Given the description of an element on the screen output the (x, y) to click on. 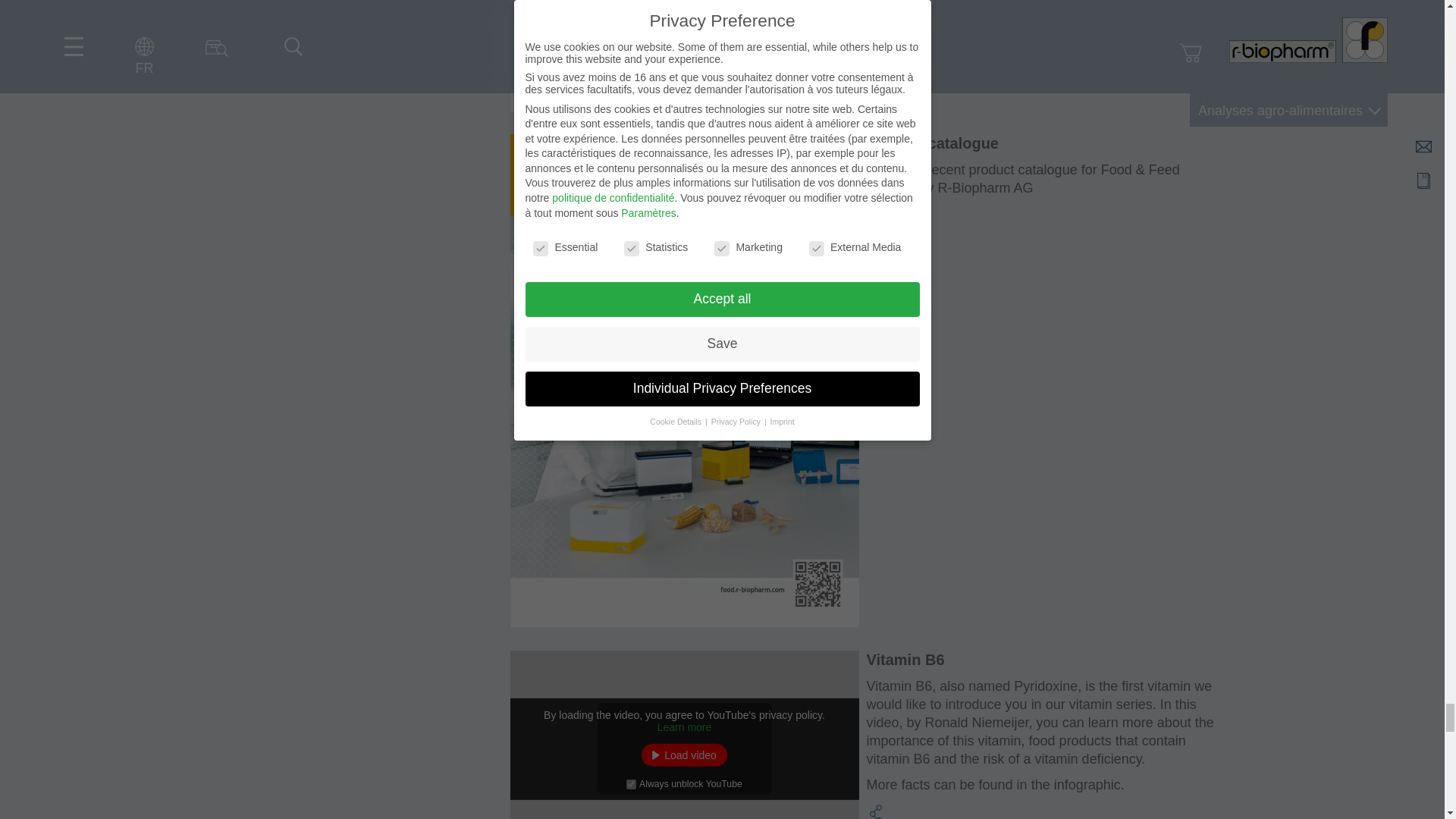
1 (631, 783)
